Given the description of an element on the screen output the (x, y) to click on. 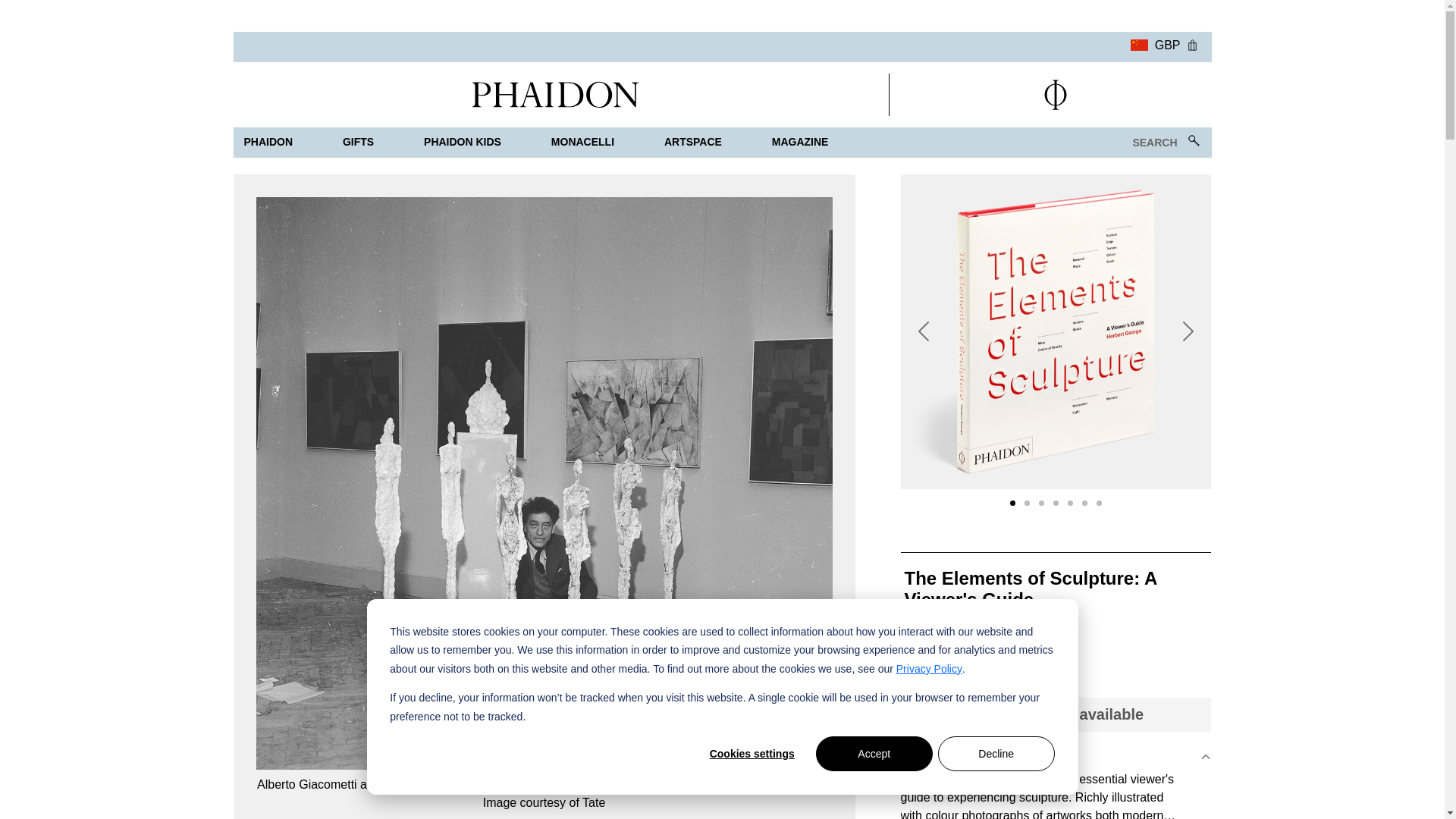
GBP (1155, 42)
MONACELLI (582, 142)
PHAIDON KIDS (462, 142)
GIFTS (358, 142)
PHAIDON (268, 142)
